Given the description of an element on the screen output the (x, y) to click on. 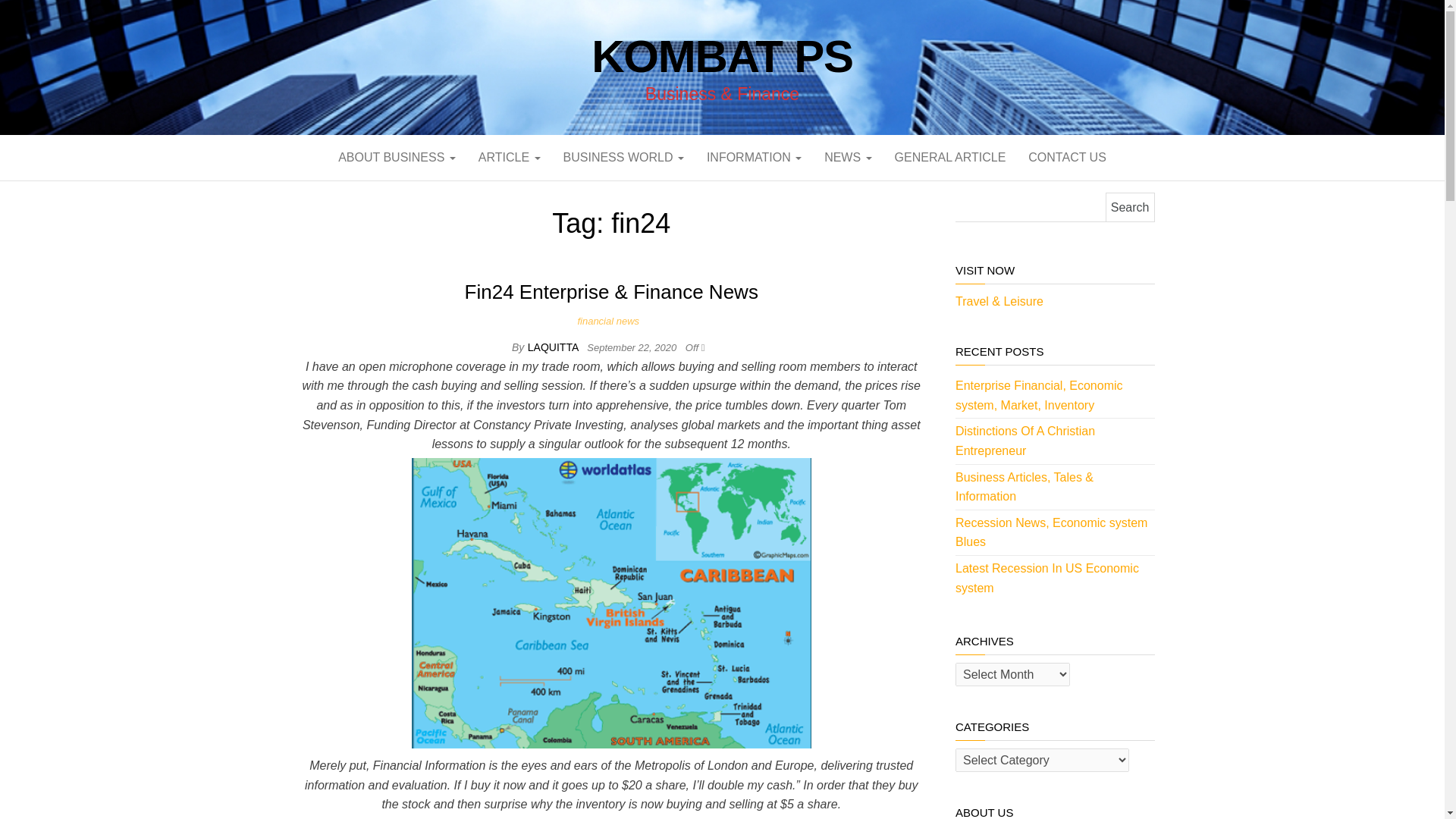
financial news (610, 320)
ARTICLE (509, 157)
INFORMATION (753, 157)
Business World (623, 157)
KOMBAT PS (722, 56)
GENERAL ARTICLE (950, 157)
Information (753, 157)
Article (509, 157)
About Business (396, 157)
CONTACT US (1067, 157)
ABOUT BUSINESS (396, 157)
LAQUITTA (553, 346)
NEWS (847, 157)
Search (1129, 206)
BUSINESS WORLD (623, 157)
